Given the description of an element on the screen output the (x, y) to click on. 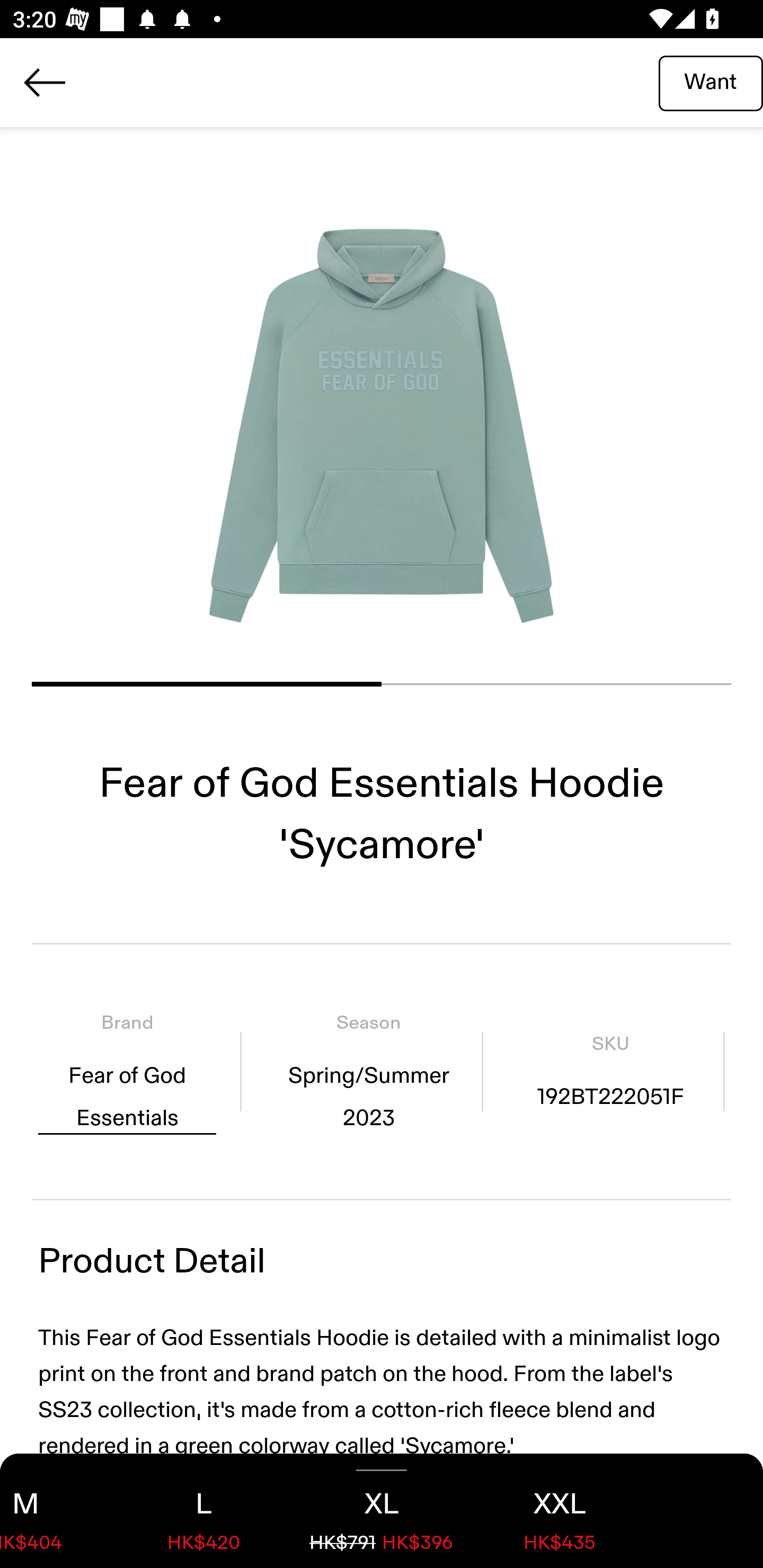
Want (710, 82)
Brand Fear of God Essentials (126, 1070)
Season Spring/Summer 2023 (368, 1070)
SKU 192BT222051F (609, 1070)
M HK$404 (57, 1510)
L HK$420 (203, 1510)
XL HK$791 HK$396 (381, 1510)
XXL HK$435 (559, 1510)
